Given the description of an element on the screen output the (x, y) to click on. 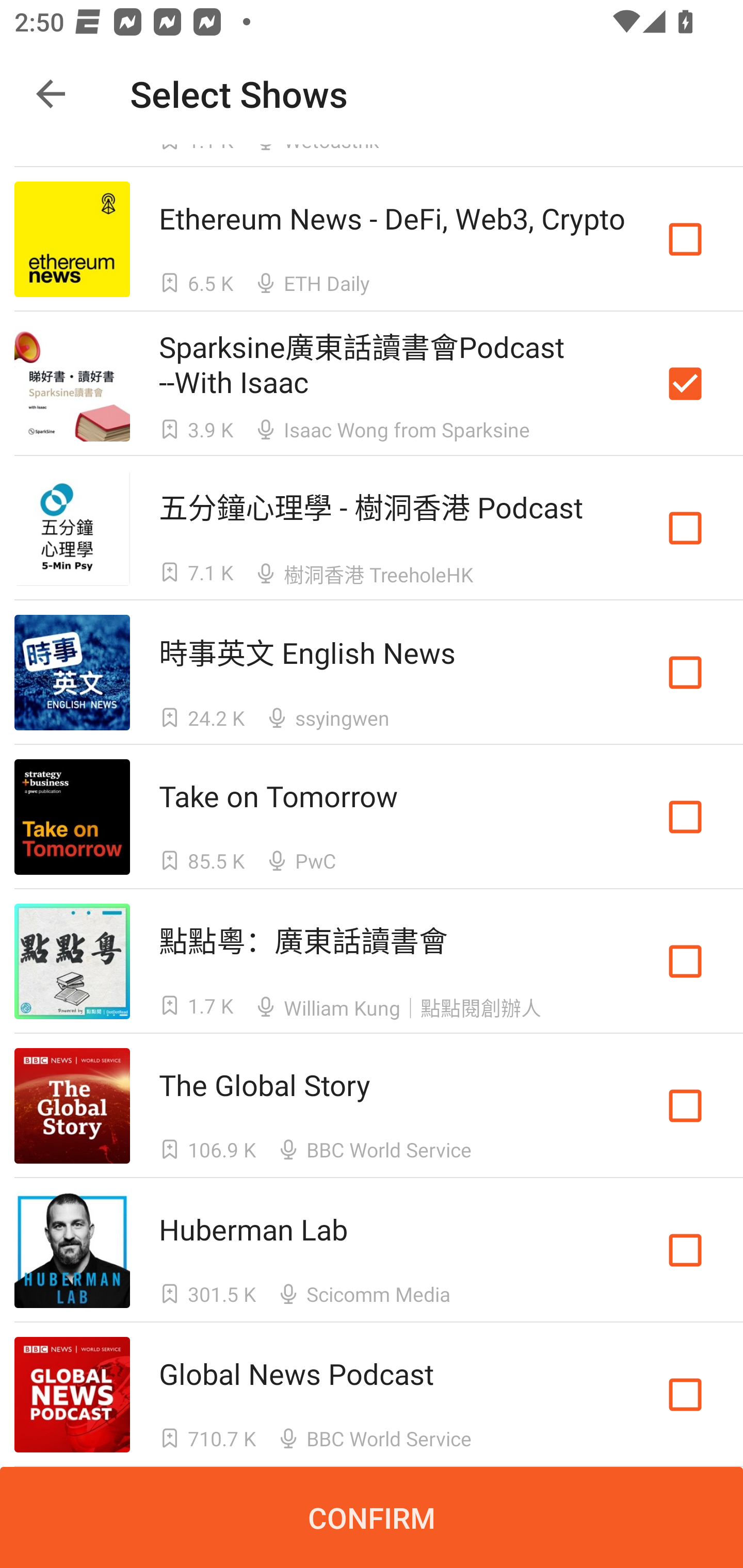
Navigate up (50, 93)
Take on Tomorrow Take on Tomorrow  85.5 K  PwC (371, 816)
CONFIRM (371, 1517)
